Given the description of an element on the screen output the (x, y) to click on. 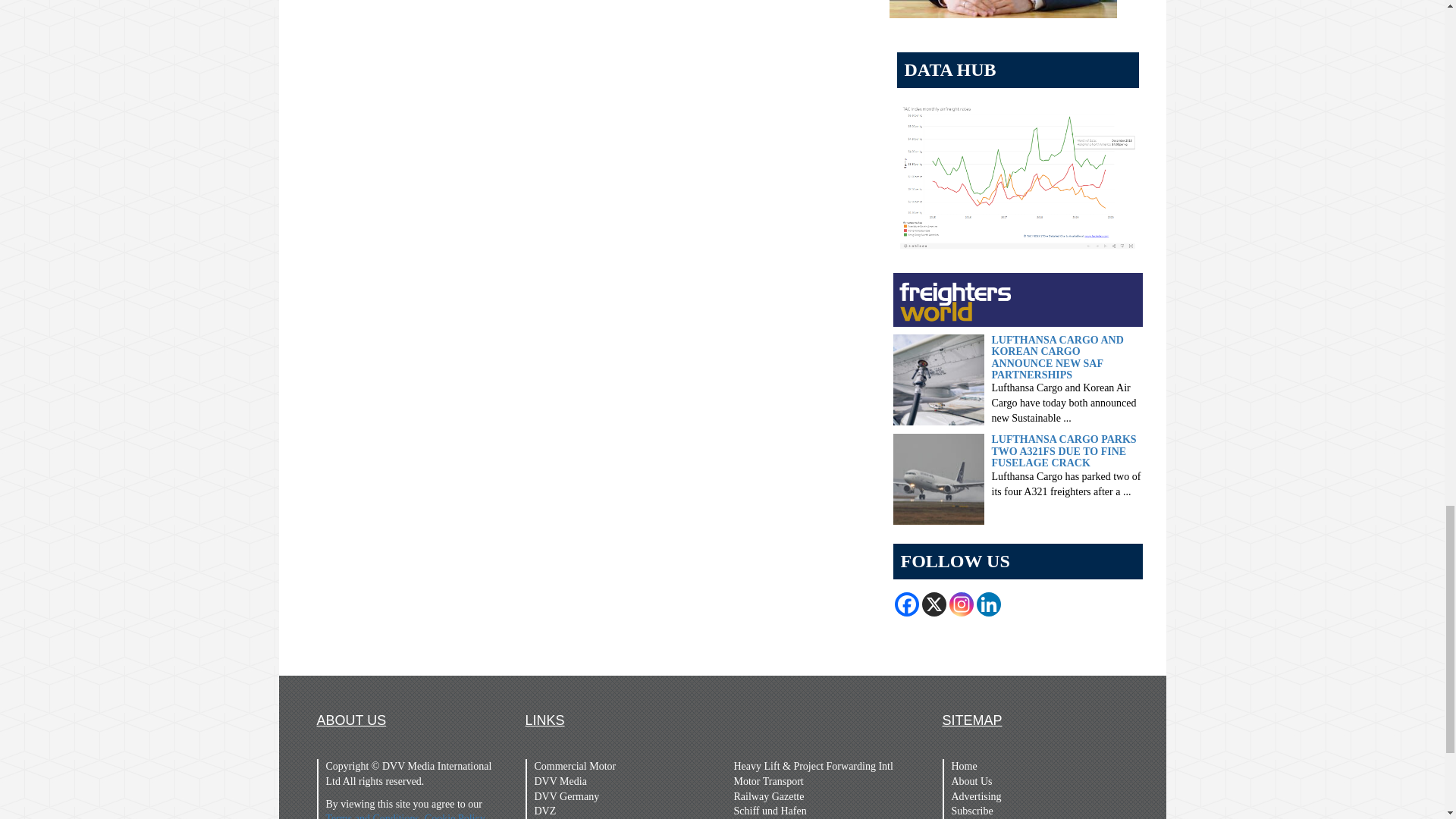
X (933, 604)
Facebook (906, 604)
Air Cargo News Issue 906 -Summer 2024 (1002, 9)
Linkedin (988, 604)
Instagram (961, 604)
Lufthansa Cargo parks two A321Fs due to fine fuselage crack (938, 478)
